Given the description of an element on the screen output the (x, y) to click on. 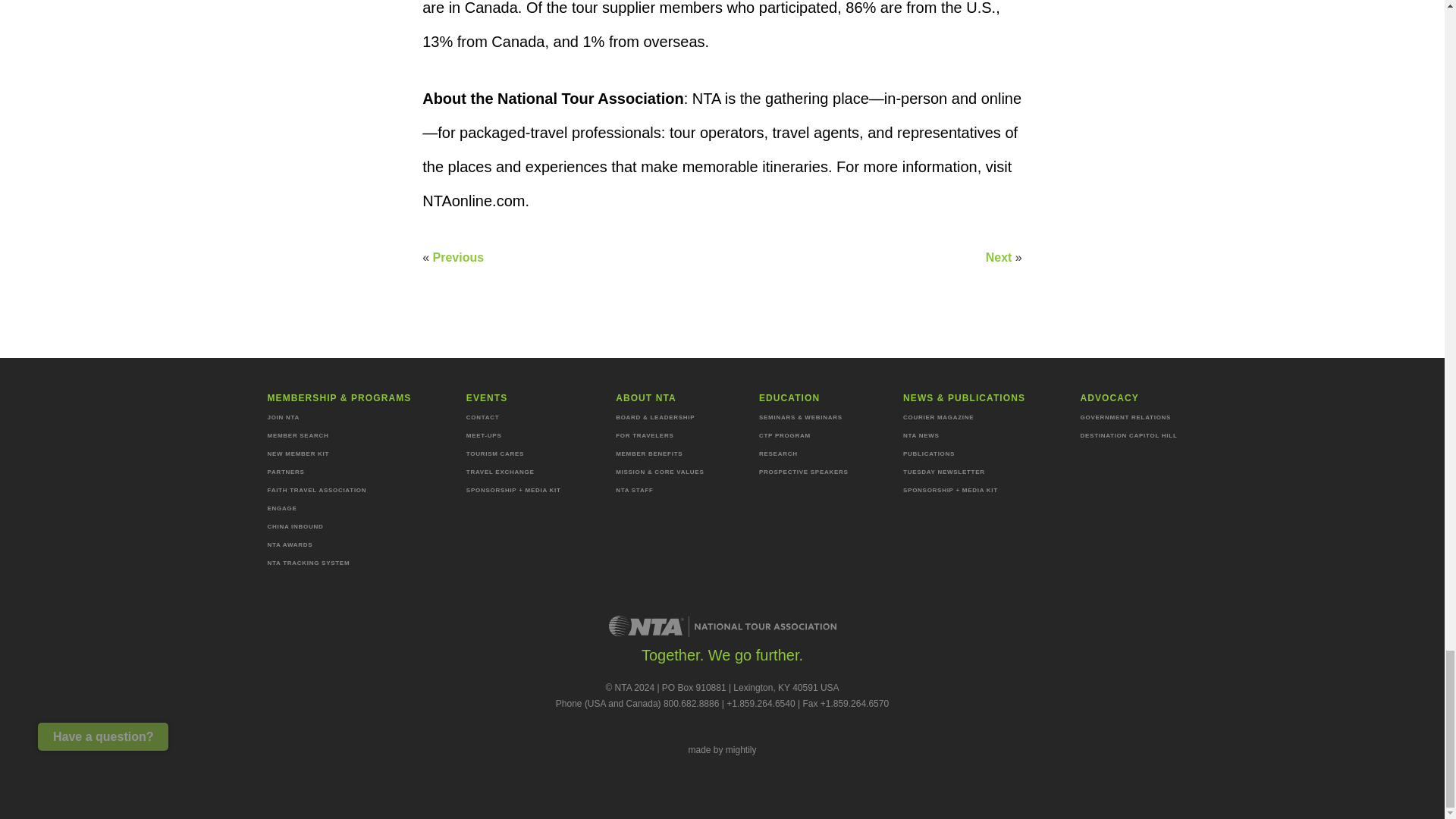
National Tour Association (721, 626)
